Given the description of an element on the screen output the (x, y) to click on. 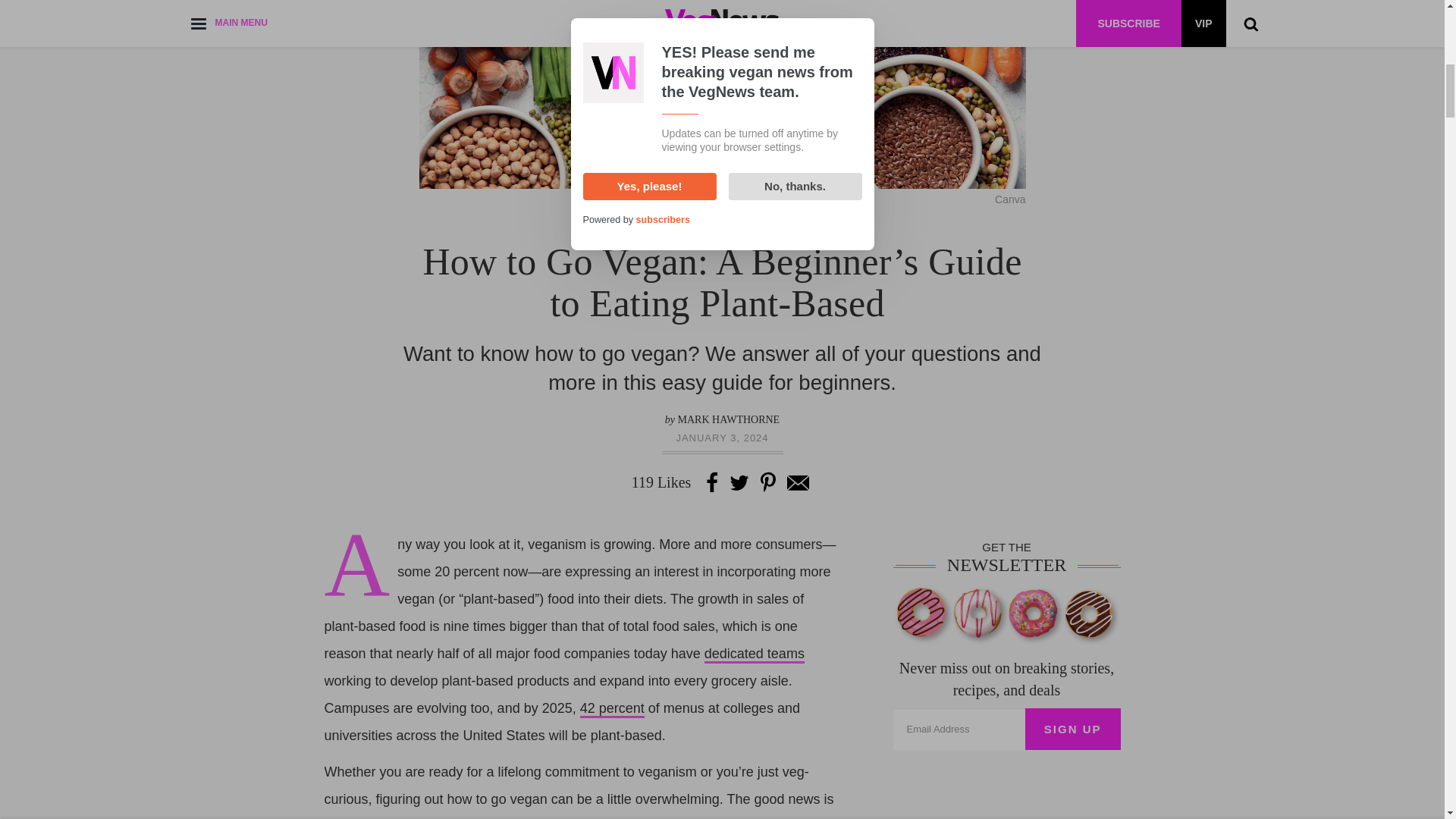
Share article via email (798, 482)
Sign Up (1073, 729)
Share article on Twitter (739, 482)
